Given the description of an element on the screen output the (x, y) to click on. 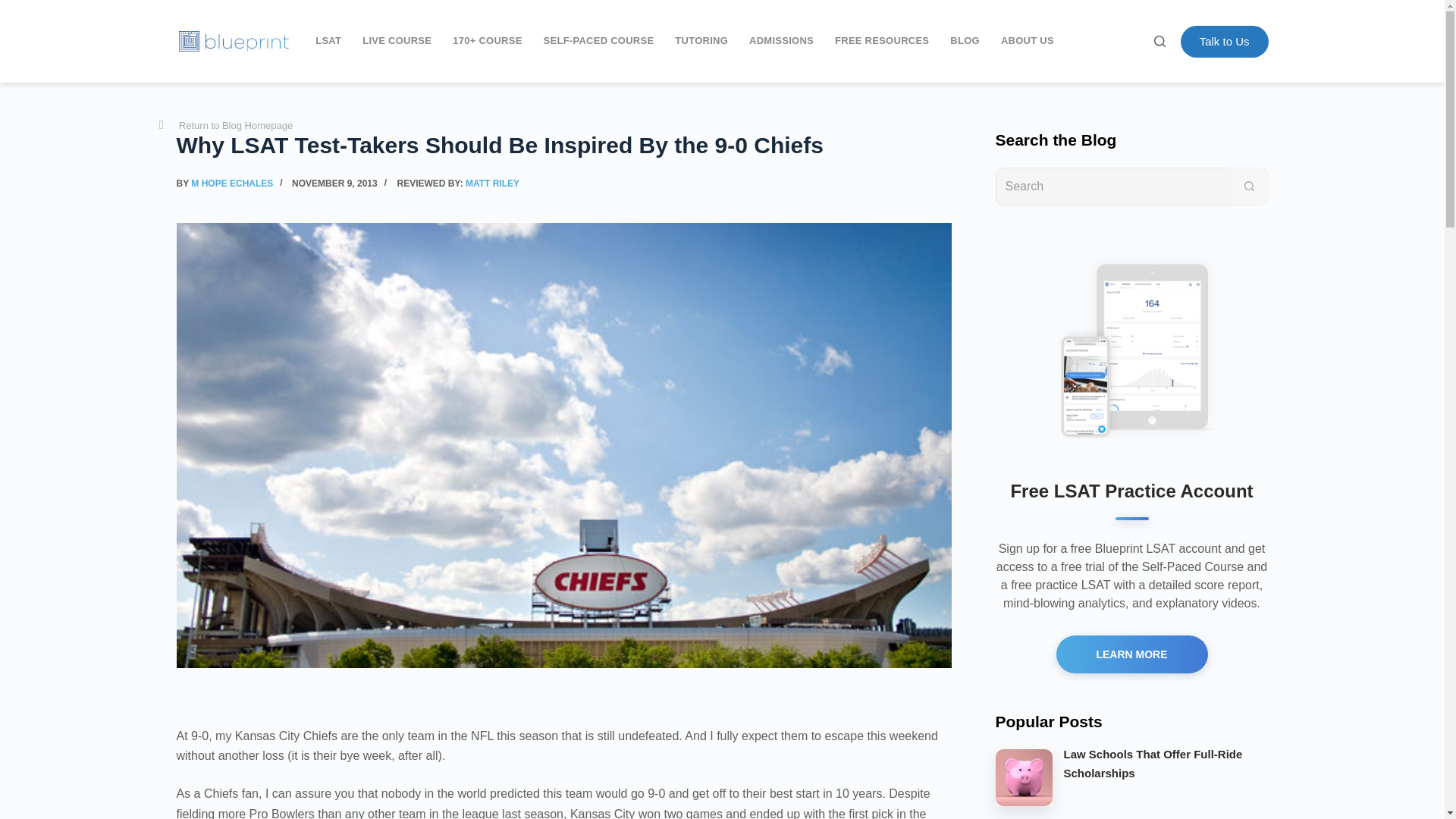
MATT RILEY (492, 183)
Why LSAT Test-Takers Should Be Inspired By the 9-0 Chiefs (563, 144)
Posts by M Hope Echales (231, 183)
Return to Blog Homepage (225, 125)
ADMISSIONS (781, 41)
M HOPE ECHALES (231, 183)
Search for... (1112, 185)
LEARN MORE (1131, 654)
Skip to content (15, 7)
LIVE COURSE (397, 41)
